Given the description of an element on the screen output the (x, y) to click on. 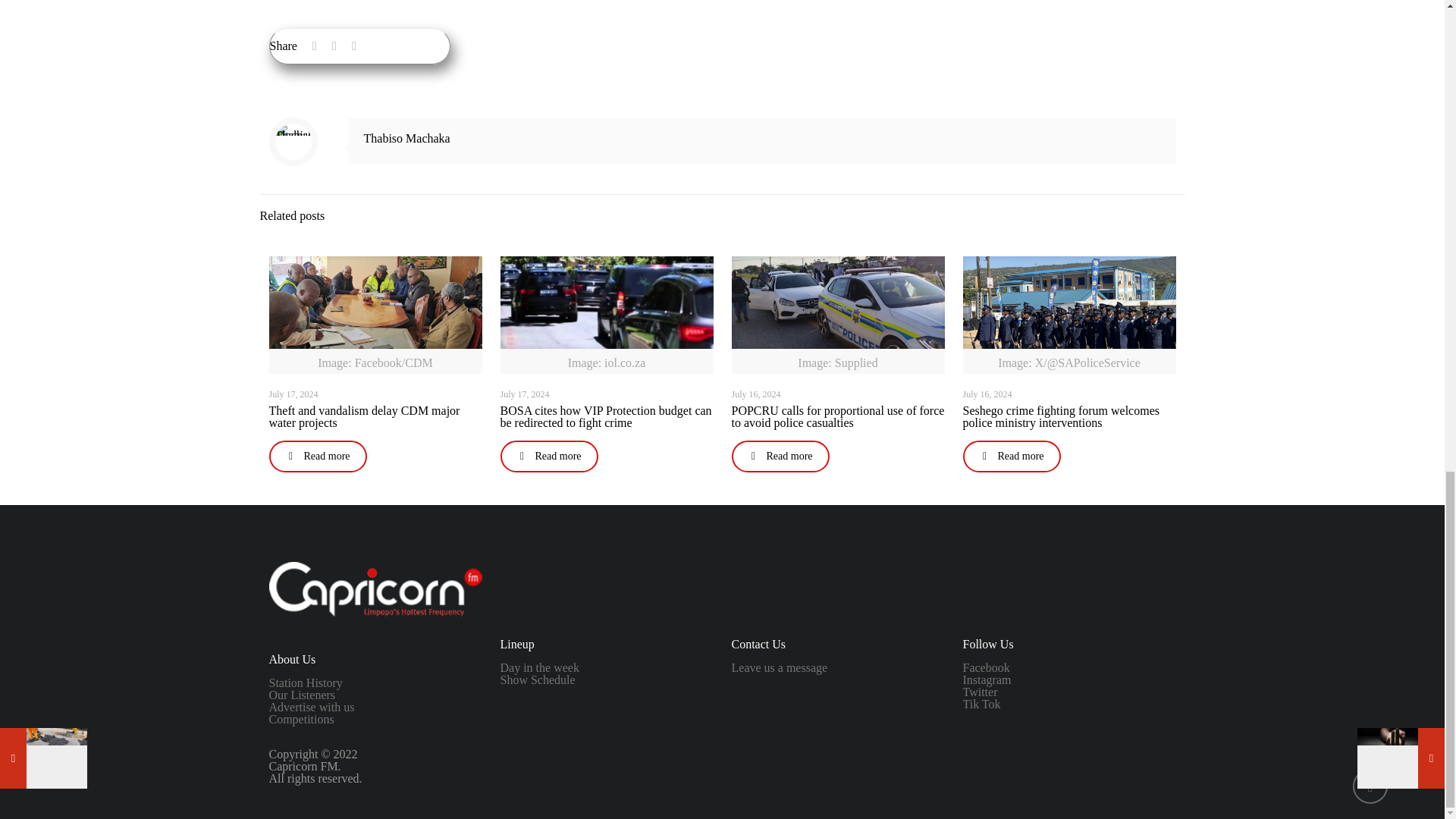
Read more (549, 456)
Read more (316, 456)
Thabiso Machaka (406, 137)
Theft and vandalism delay CDM major water projects (363, 416)
Read more (779, 456)
